Given the description of an element on the screen output the (x, y) to click on. 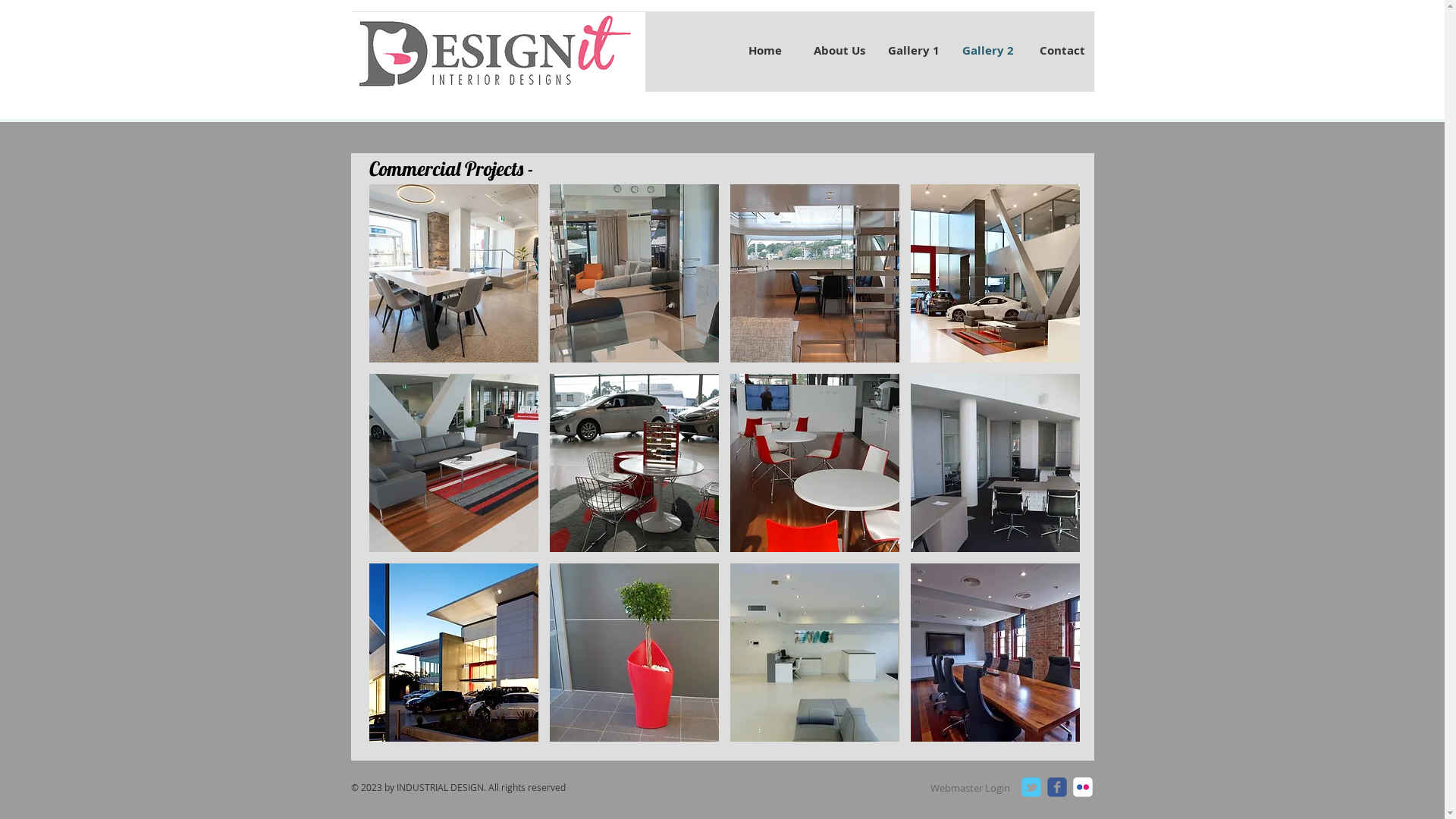
Webmaster Login Element type: text (969, 787)
Home Element type: text (765, 50)
Gallery 1 Element type: text (913, 50)
Gallery 2 Element type: text (987, 50)
Contact Element type: text (1062, 50)
About Us Element type: text (839, 50)
